Given the description of an element on the screen output the (x, y) to click on. 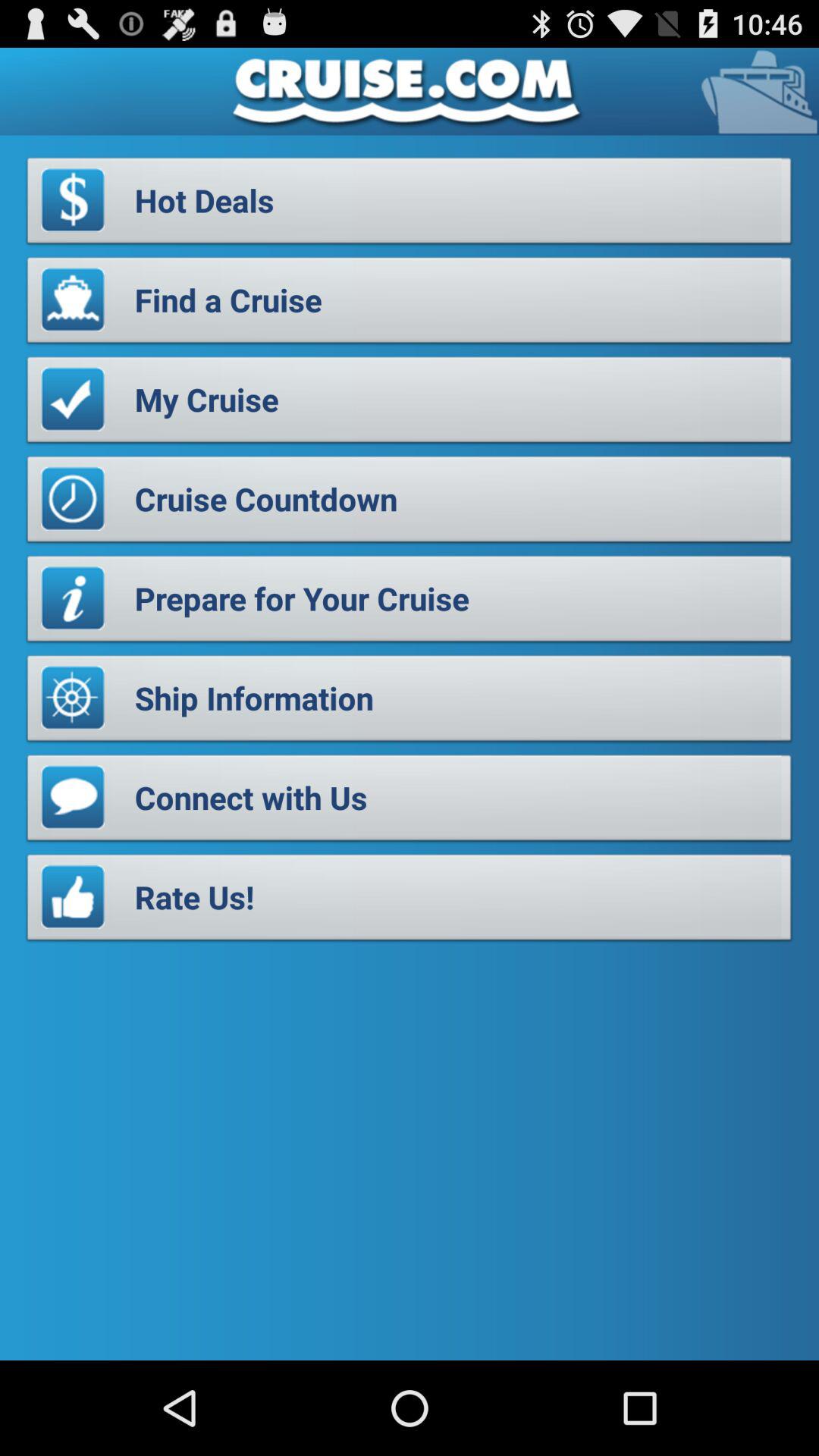
tap icon above ship information button (409, 602)
